Given the description of an element on the screen output the (x, y) to click on. 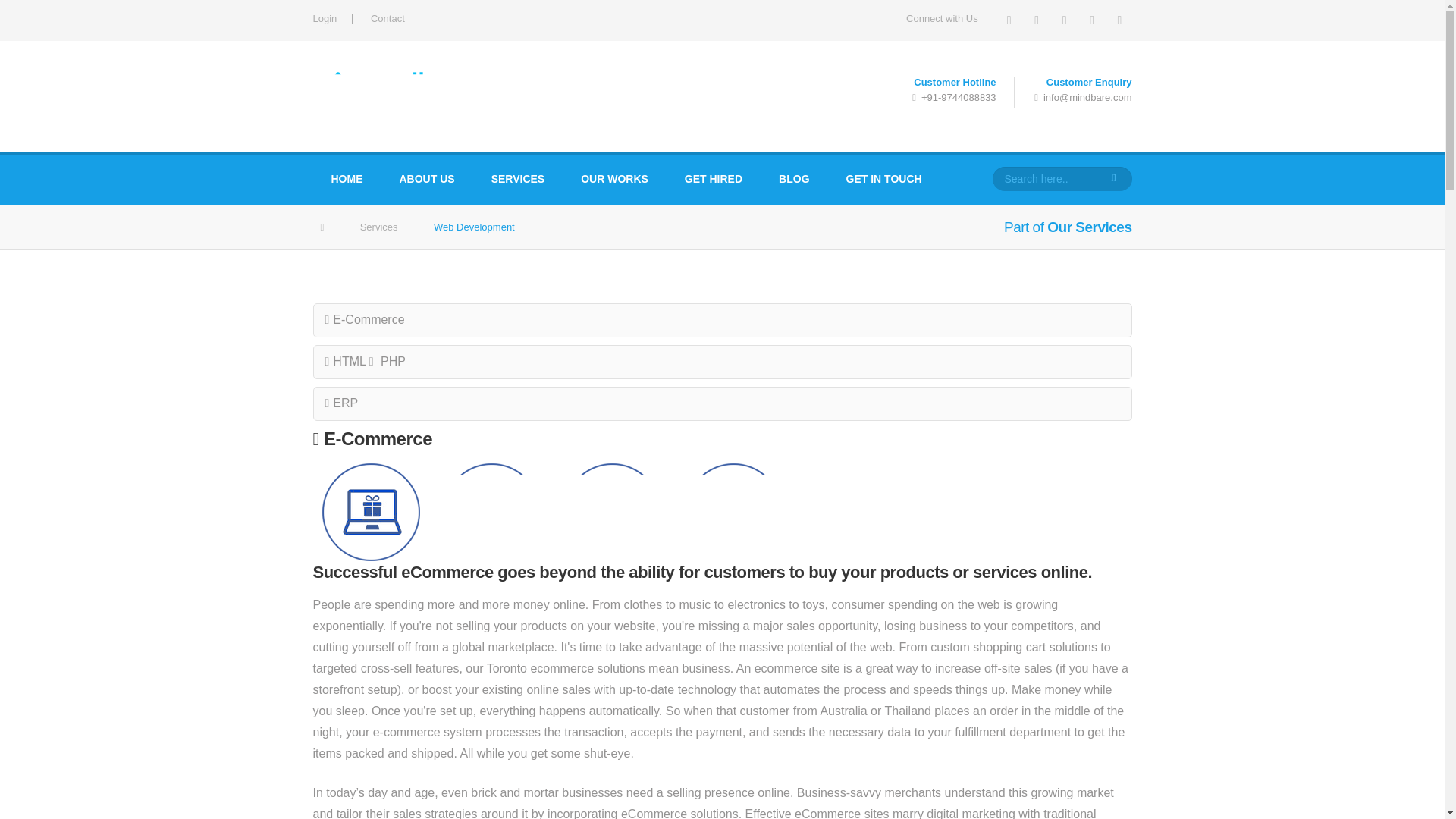
OUR WORKS (614, 179)
Contact (387, 18)
Services (378, 226)
Login (324, 18)
E-Commerce (375, 438)
GET IN TOUCH (884, 179)
BLOG (793, 179)
GET HIRED (713, 179)
ABOUT US (425, 179)
HOME (346, 179)
SERVICES (518, 179)
